Given the description of an element on the screen output the (x, y) to click on. 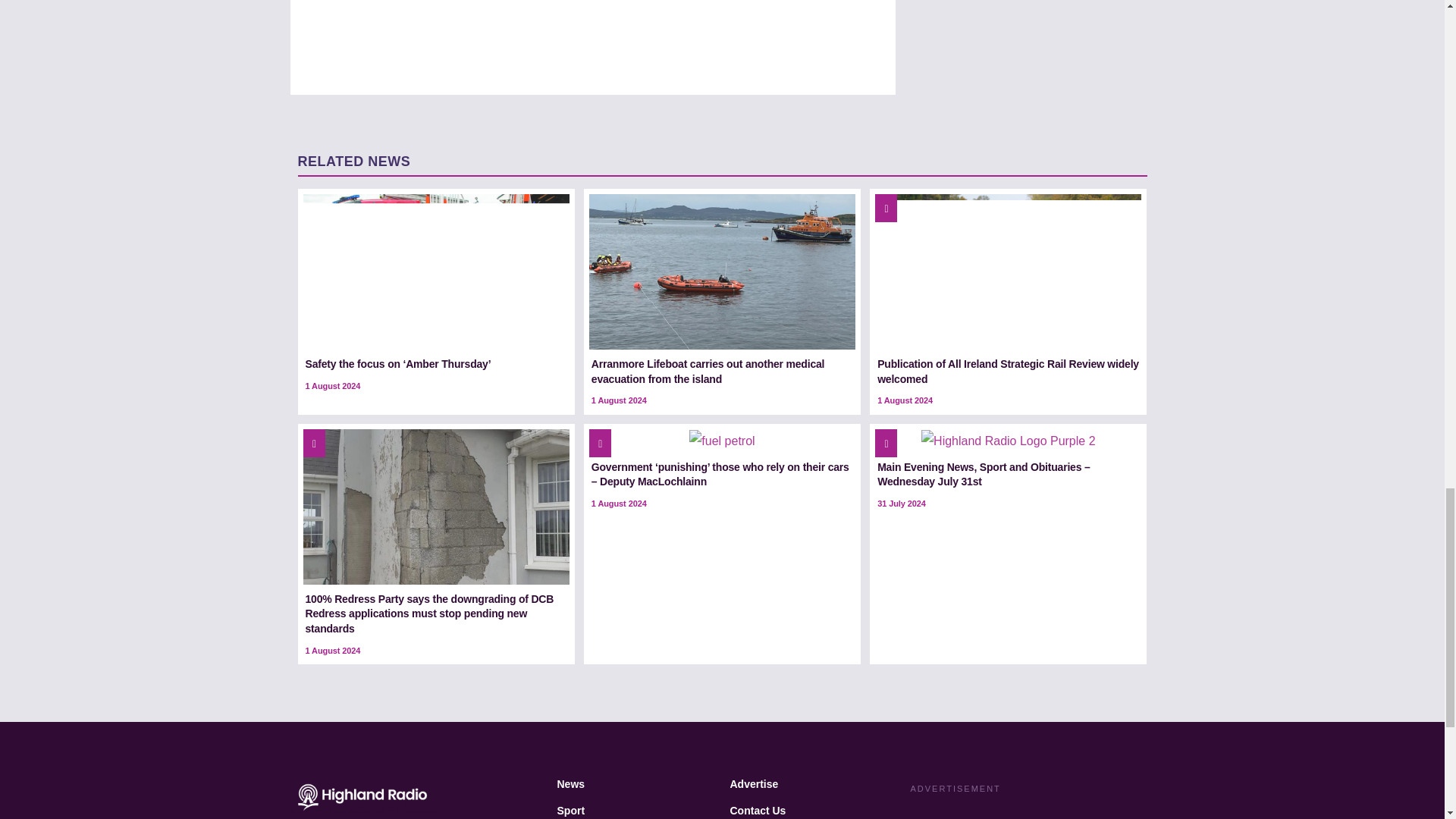
fuel petrol (721, 440)
train track (1008, 271)
Amber Thursday (435, 271)
Highland Radio Logo Purple 2 (1007, 440)
Mica House 2 (435, 506)
Arranmore RNLI (722, 271)
